Given the description of an element on the screen output the (x, y) to click on. 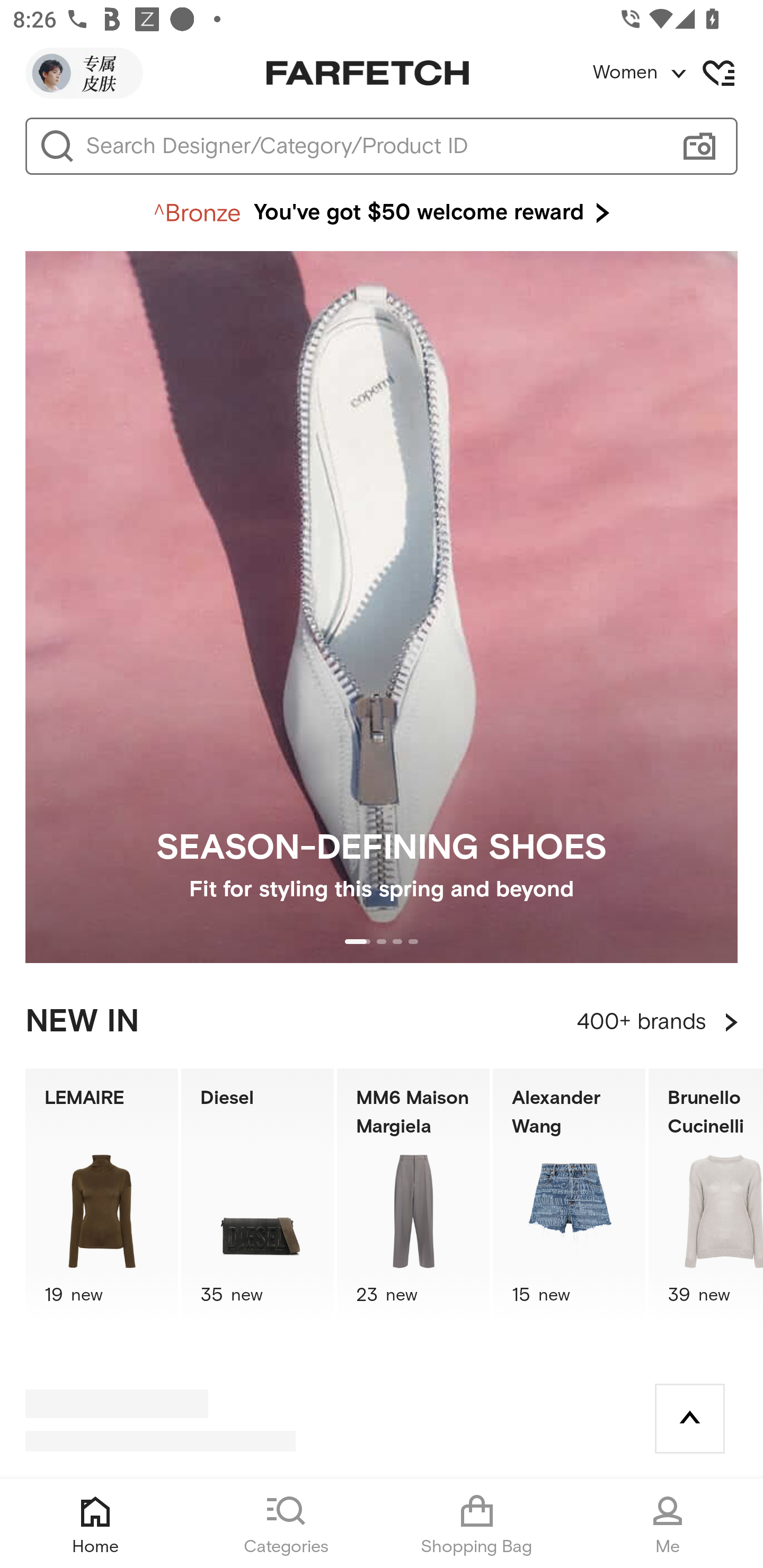
Women (677, 72)
Search Designer/Category/Product ID (373, 146)
You've got $50 welcome reward (381, 213)
NEW IN 400+ brands (381, 1021)
LEMAIRE 19  new (101, 1196)
Diesel 35  new (257, 1196)
MM6 Maison Margiela 23  new (413, 1196)
Alexander Wang 15  new (568, 1196)
Brunello Cucinelli 39  new (705, 1196)
Categories (285, 1523)
Shopping Bag (476, 1523)
Me (667, 1523)
